Given the description of an element on the screen output the (x, y) to click on. 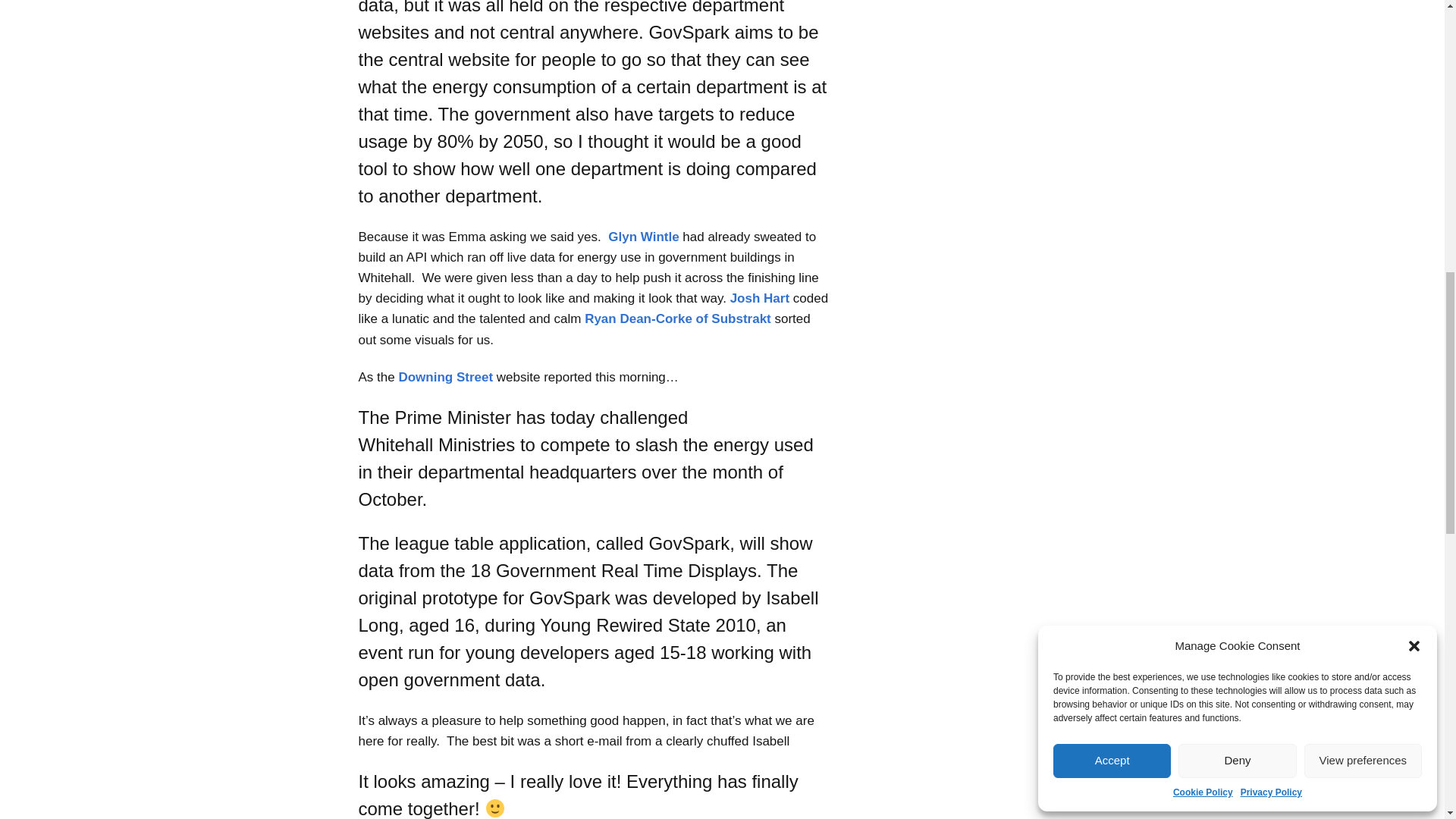
Downing Street website (445, 377)
Josh Hart (757, 298)
Substrak's site and Ryan's blog (678, 318)
Downing Street (445, 377)
Ryan Dean-Corke of Substrakt (678, 318)
Glyn Wintle (643, 237)
Glyn on twitter (643, 237)
Josh's website (757, 298)
